Given the description of an element on the screen output the (x, y) to click on. 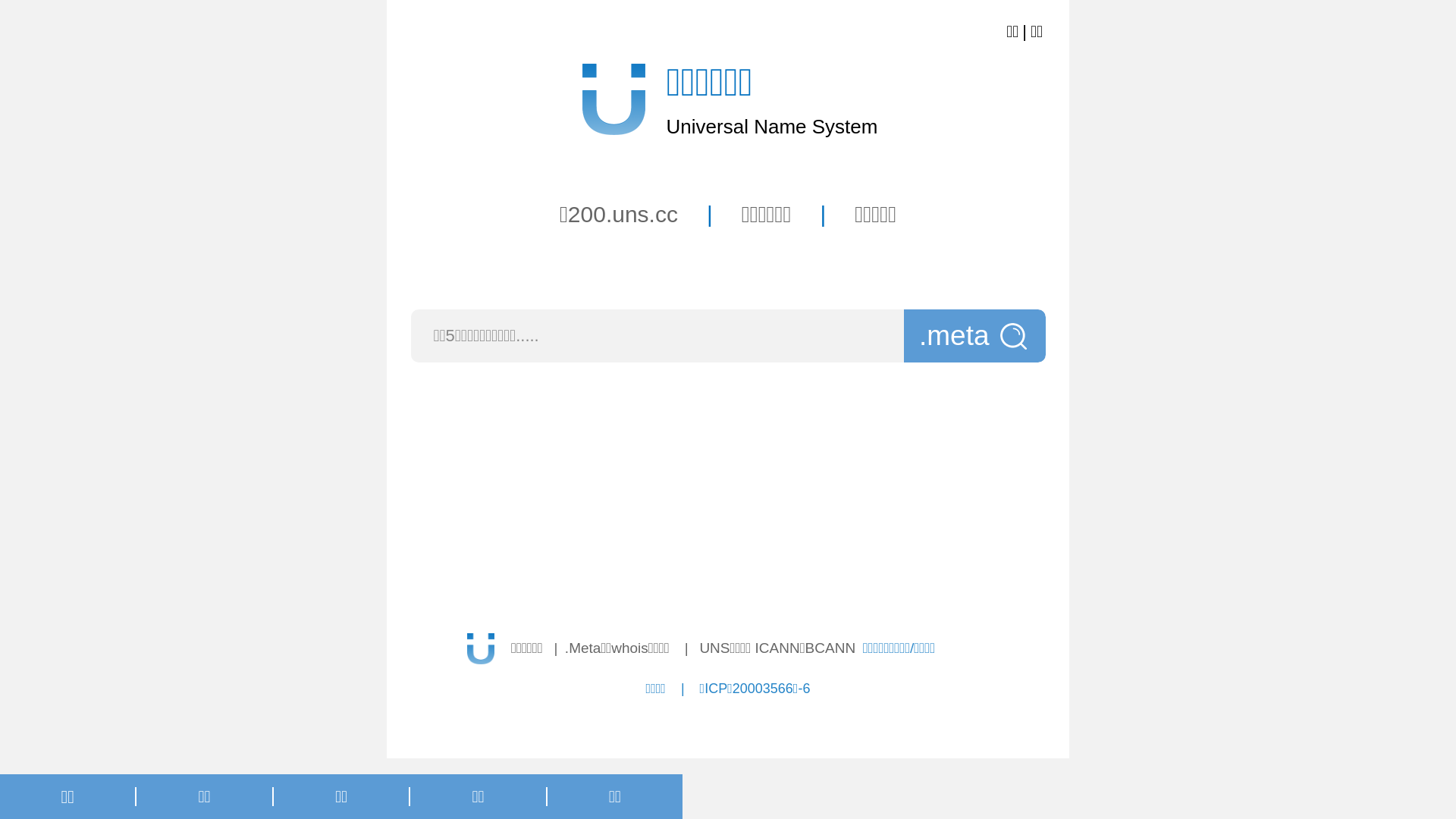
ICANN Element type: text (777, 647)
BCANN Element type: text (830, 647)
| Element type: text (684, 647)
.meta Element type: text (974, 335)
| Element type: text (553, 647)
